Given the description of an element on the screen output the (x, y) to click on. 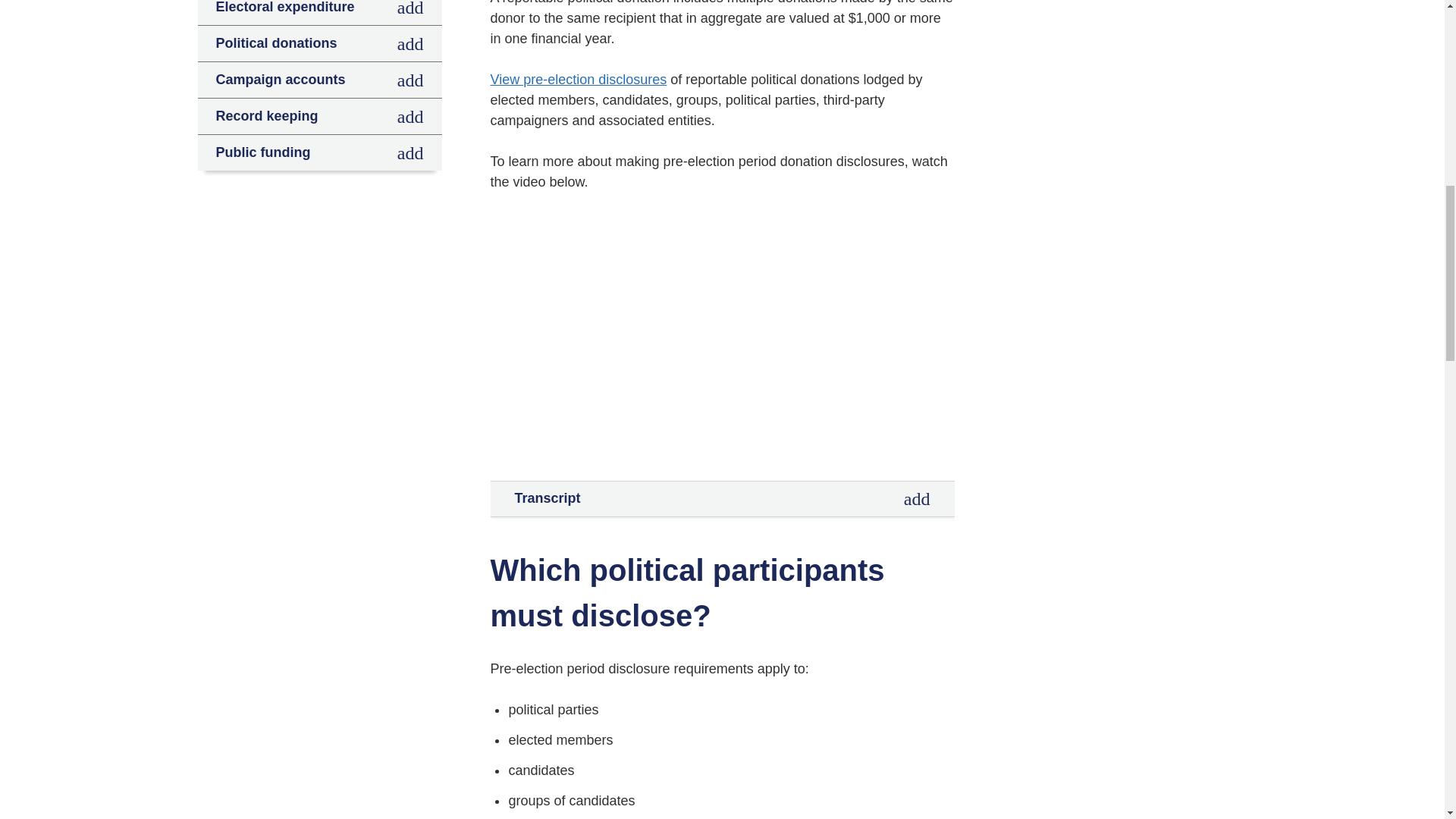
YouTube video frame (721, 336)
